Given the description of an element on the screen output the (x, y) to click on. 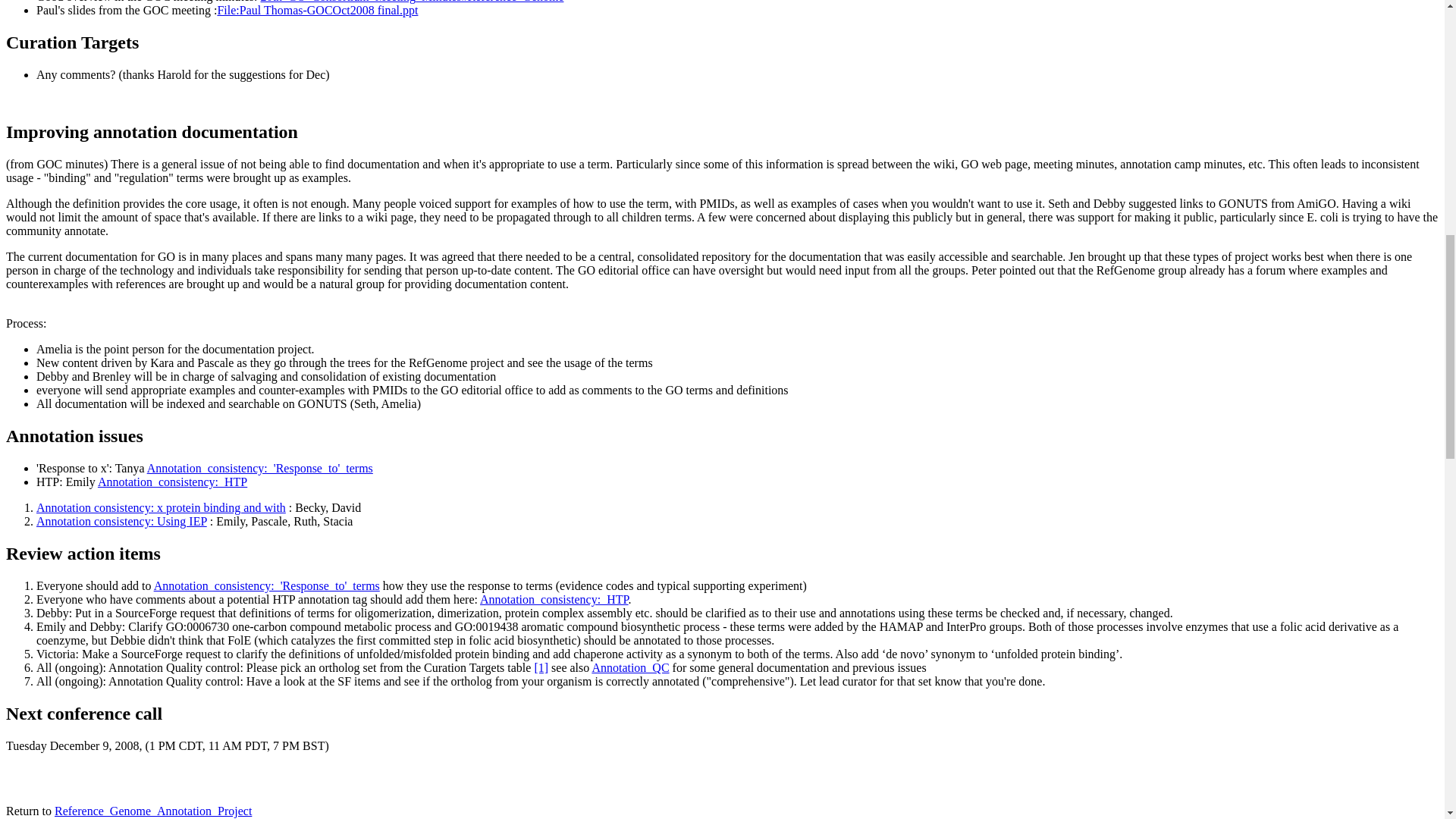
Annotation consistency: 'Response to' terms (267, 585)
Annotation consistency: x protein binding and with (160, 507)
Reference Genome Annotation Project (153, 810)
File:Paul Thomas-GOCOct2008 final.ppt (316, 10)
Annotation consistency: Using IEP (121, 521)
File:Paul Thomas-GOCOct2008 final.ppt (316, 10)
Annotation QC (629, 667)
Annotation consistency: HTP (554, 599)
Annotation consistency: 'Response to' terms (259, 468)
Annotation consistency: Using IEP (121, 521)
Annotation consistency: HTP (172, 481)
Annotation consistency: x protein binding and with (160, 507)
